Given the description of an element on the screen output the (x, y) to click on. 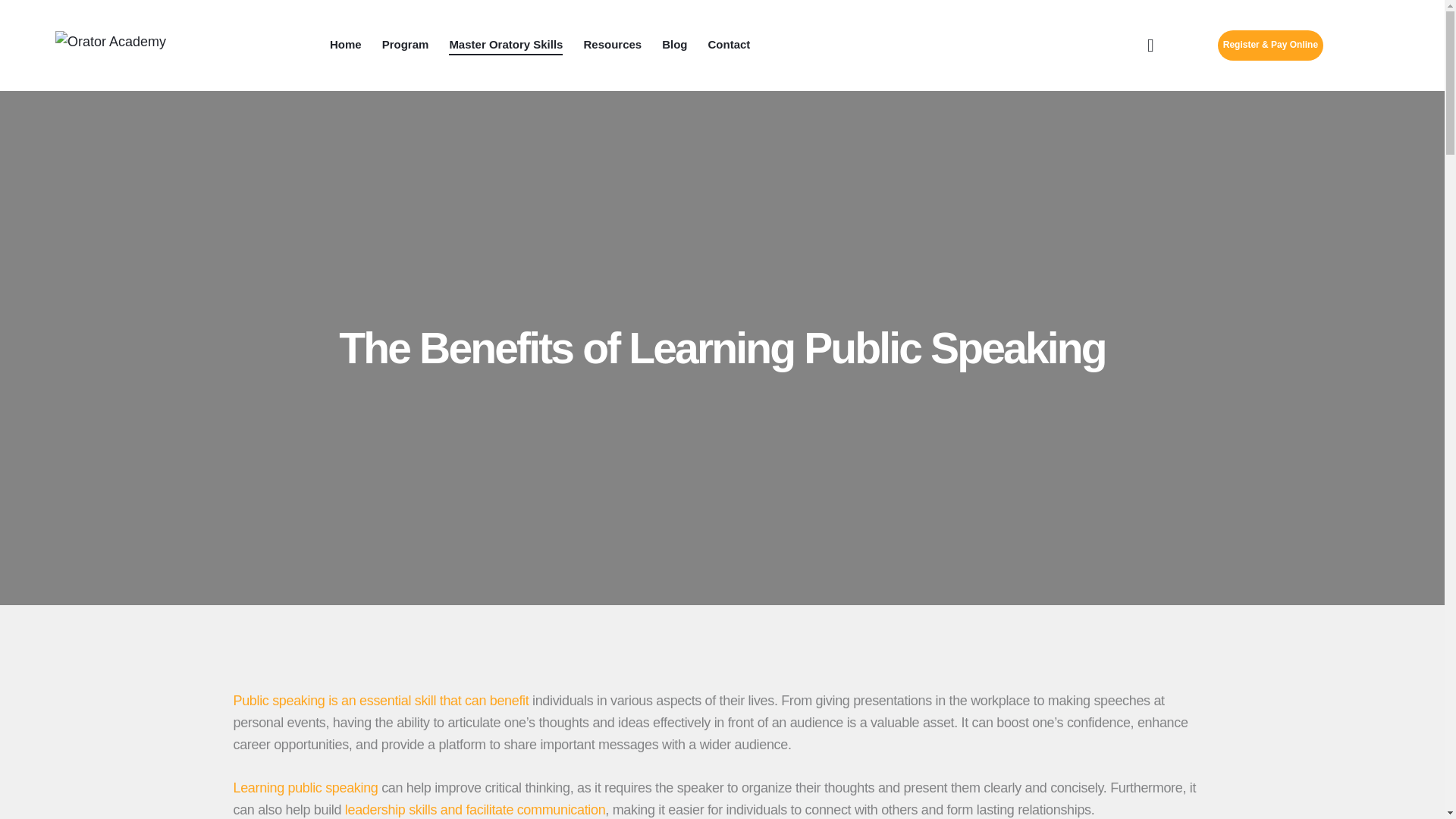
Master Oratory Skills (506, 45)
Program (405, 45)
Resources (612, 45)
Home (346, 45)
Blog (674, 45)
Contact (728, 45)
